Given the description of an element on the screen output the (x, y) to click on. 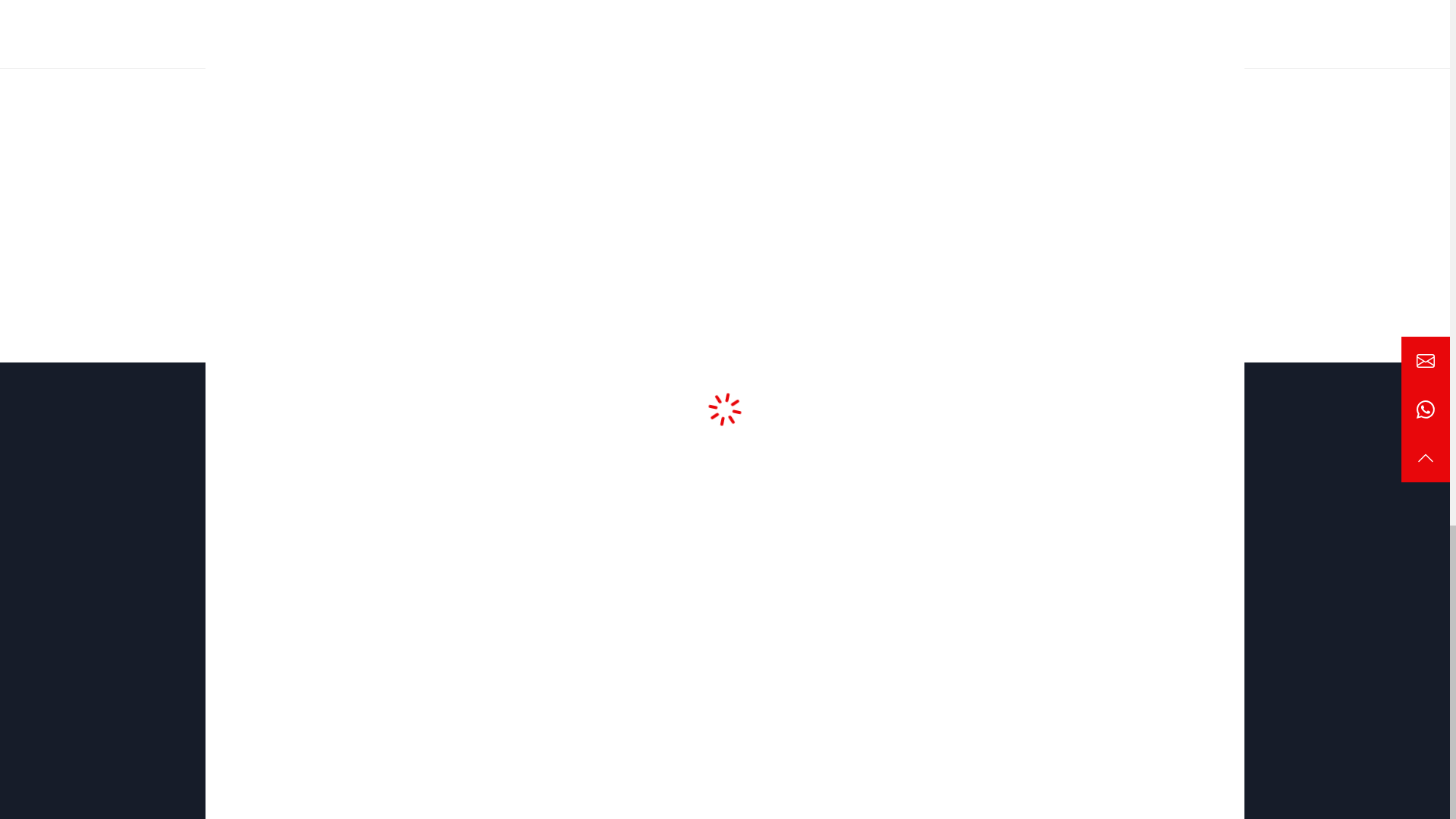
SEND (1077, 639)
